Given the description of an element on the screen output the (x, y) to click on. 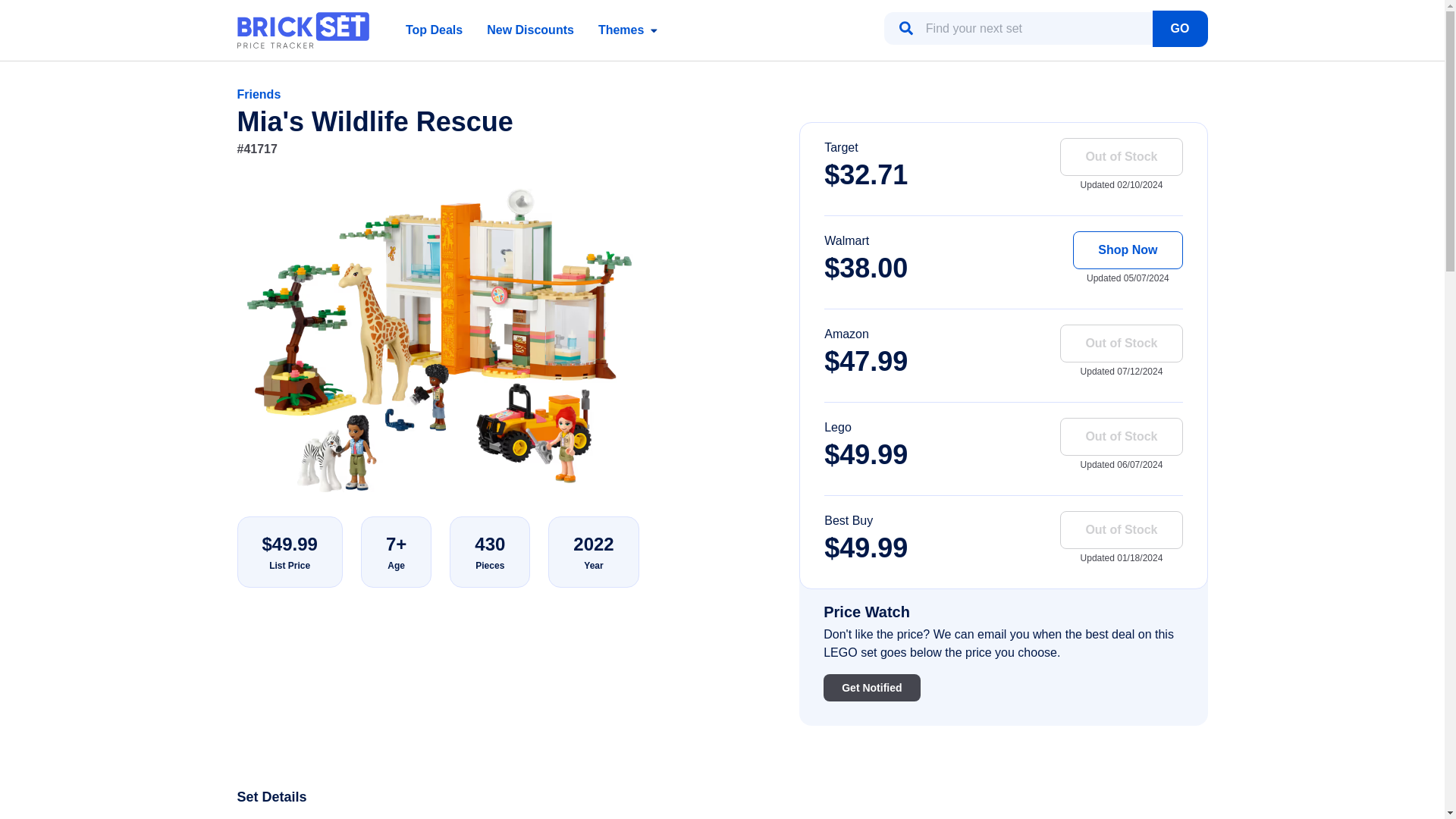
Friends (258, 93)
Get Notified (872, 687)
GO (1180, 28)
New Discounts (529, 30)
Top Deals (434, 30)
Shop Now (1127, 249)
